Given the description of an element on the screen output the (x, y) to click on. 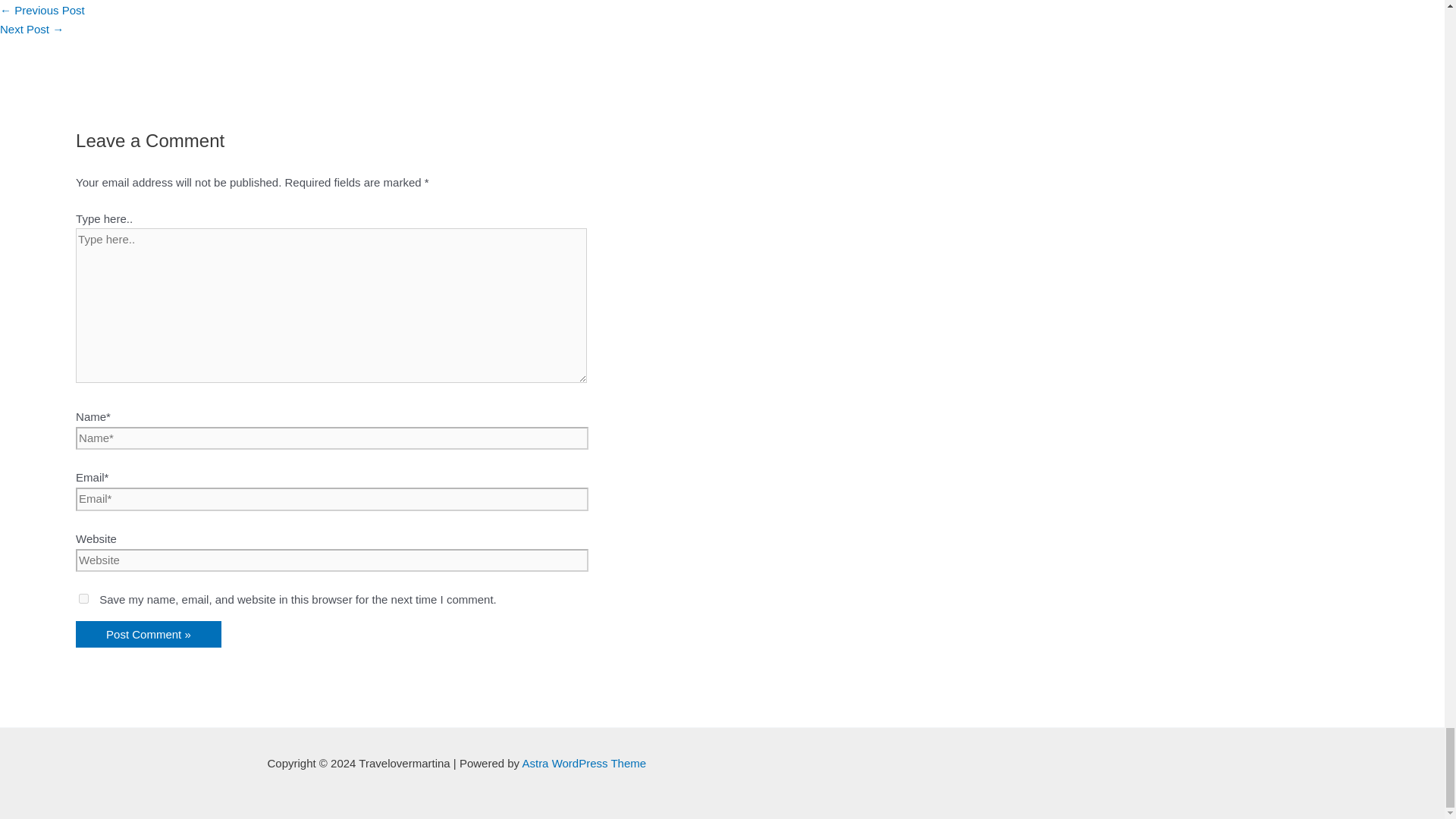
30 Best Things to do in Niagara Falls in 2023 (42, 10)
yes (83, 598)
